Given the description of an element on the screen output the (x, y) to click on. 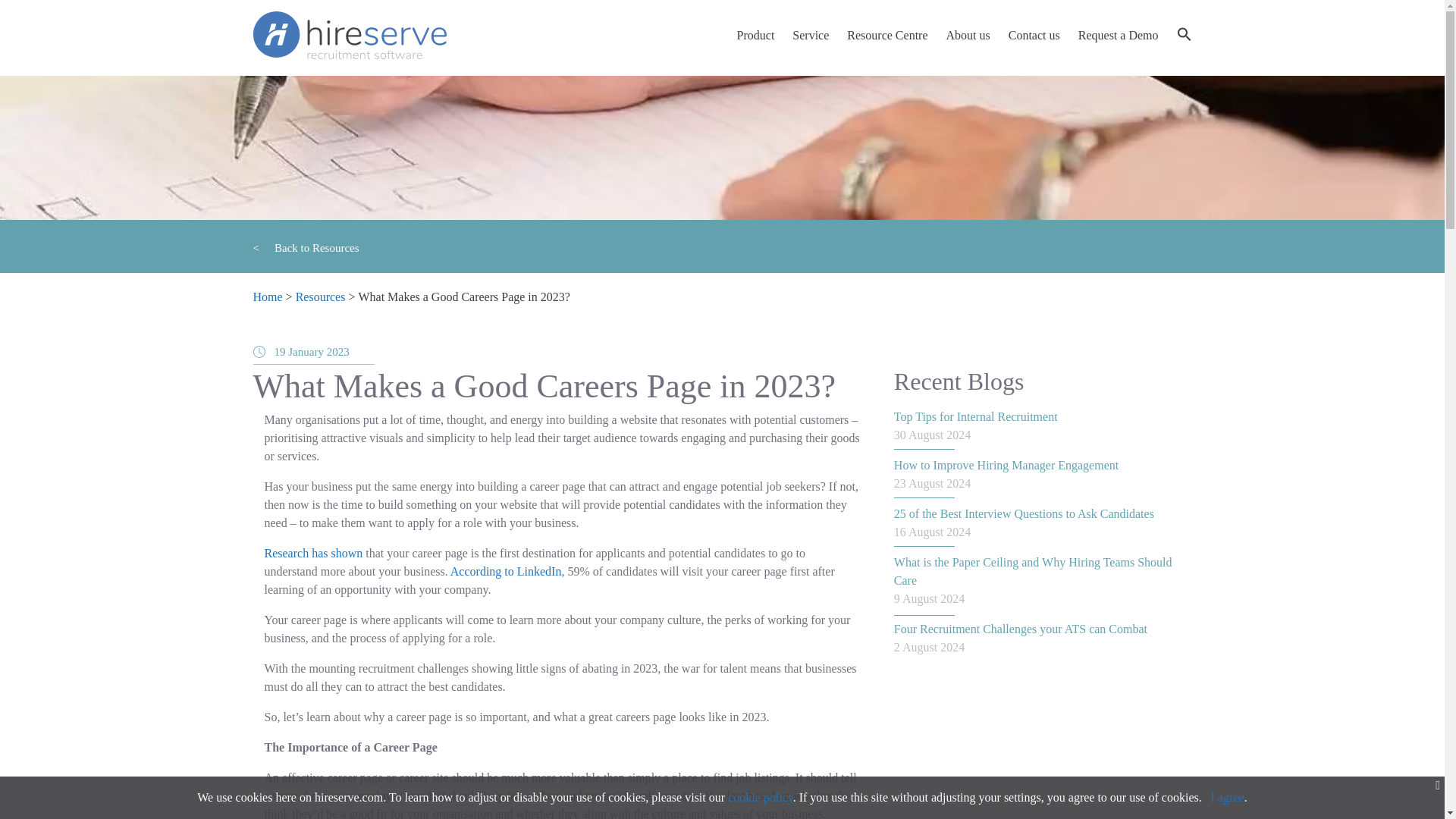
Research has shown (312, 553)
Resource Centre (887, 34)
About us (968, 34)
Resources (320, 296)
Resources (320, 296)
Contact us (1034, 34)
Product (755, 34)
Home (267, 296)
Home (267, 296)
Service (810, 34)
